Given the description of an element on the screen output the (x, y) to click on. 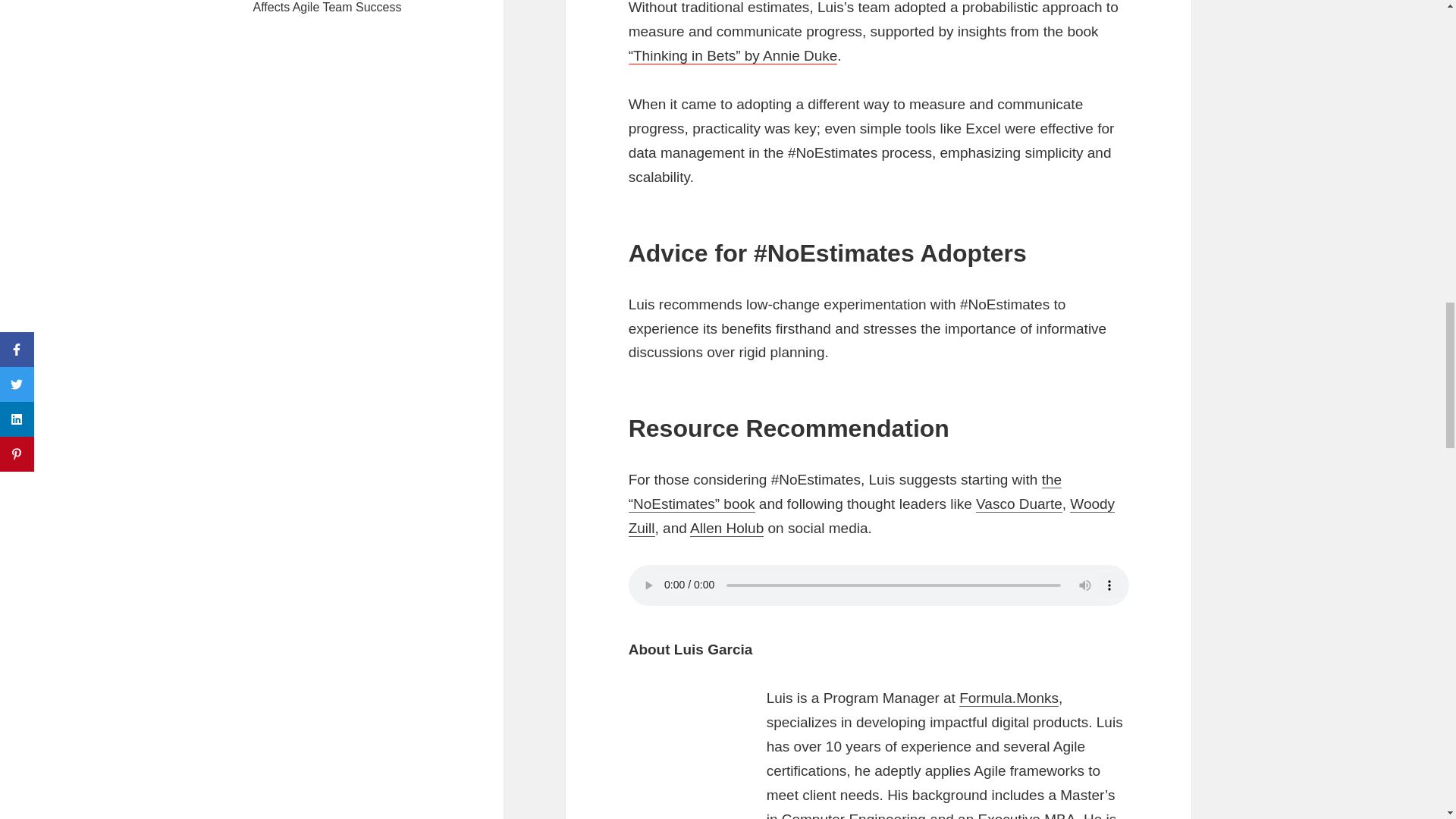
Formula.Monks (1008, 698)
Vasco Duarte (1018, 504)
Woody Zuill (871, 516)
Allen Holub (726, 528)
